Given the description of an element on the screen output the (x, y) to click on. 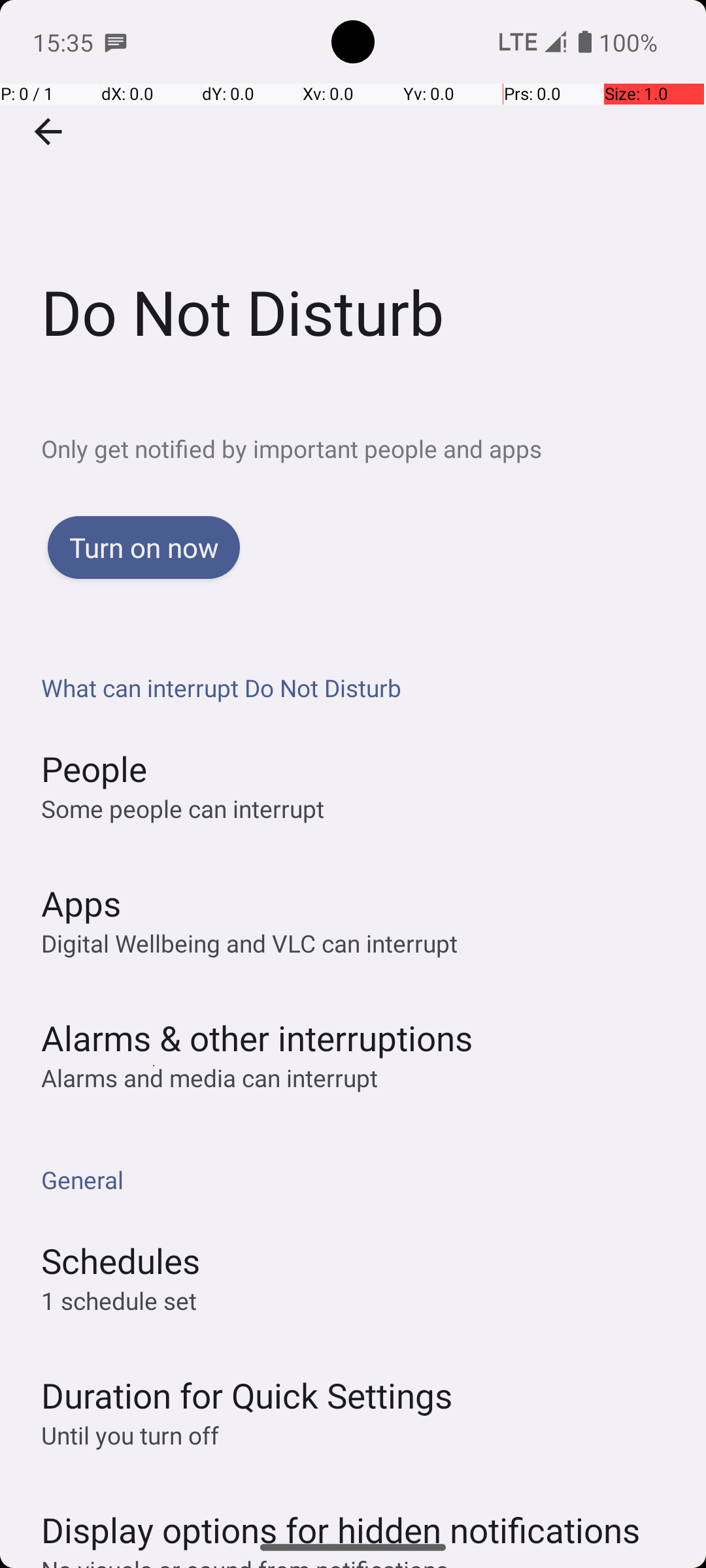
Only get notified by important people and apps Element type: android.widget.TextView (373, 448)
Turn on now Element type: android.widget.Button (143, 547)
What can interrupt Do Not Disturb Element type: android.widget.TextView (359, 687)
People Element type: android.widget.TextView (94, 768)
Some people can interrupt Element type: android.widget.TextView (182, 808)
Digital Wellbeing and VLC can interrupt Element type: android.widget.TextView (249, 942)
Alarms & other interruptions Element type: android.widget.TextView (256, 1037)
Alarms and media can interrupt Element type: android.widget.TextView (209, 1077)
Schedules Element type: android.widget.TextView (120, 1260)
1 schedule set Element type: android.widget.TextView (118, 1300)
Duration for Quick Settings Element type: android.widget.TextView (246, 1395)
Until you turn off Element type: android.widget.TextView (129, 1434)
Display options for hidden notifications Element type: android.widget.TextView (340, 1516)
